Given the description of an element on the screen output the (x, y) to click on. 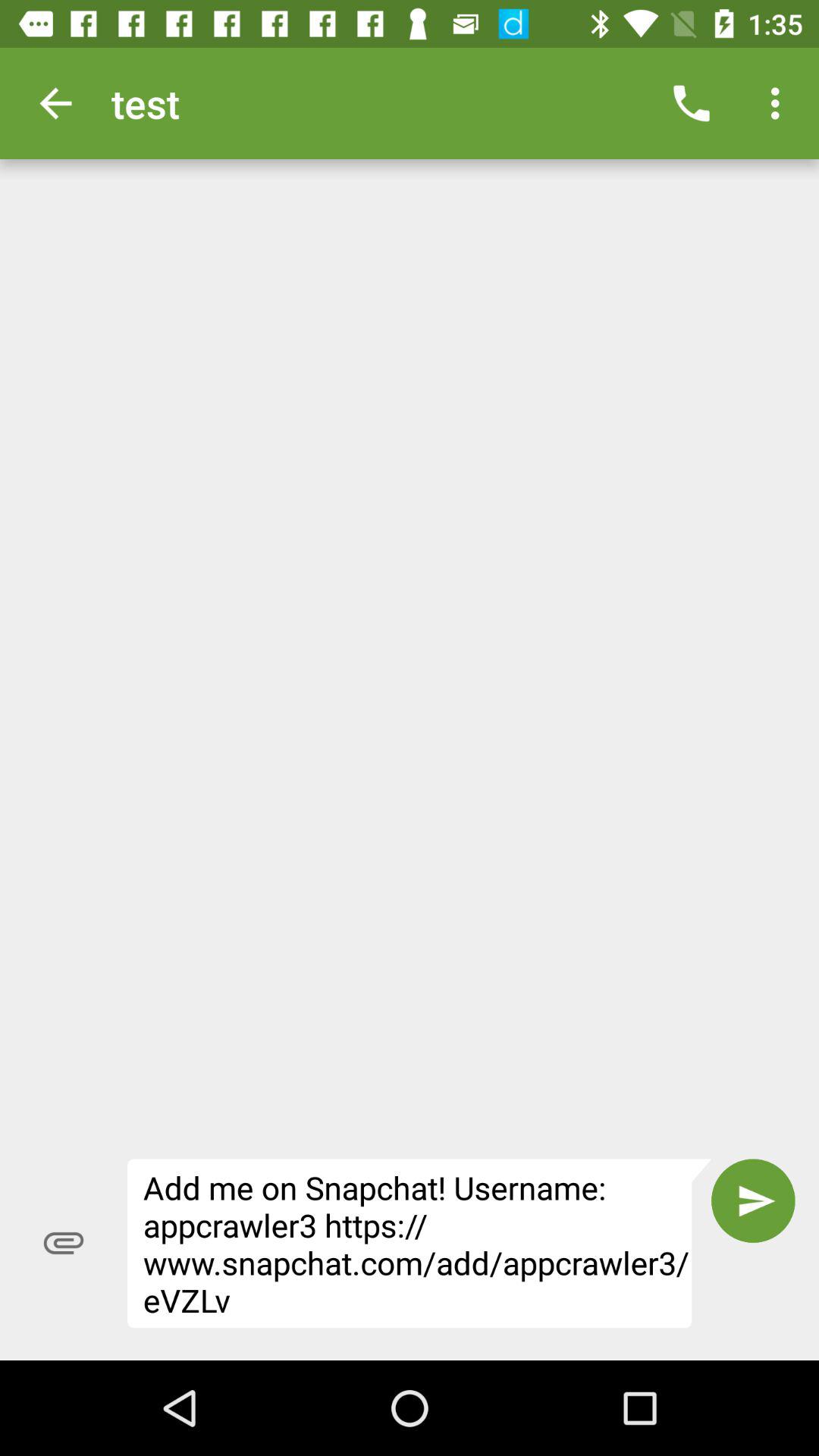
press the item at the bottom left corner (63, 1243)
